Given the description of an element on the screen output the (x, y) to click on. 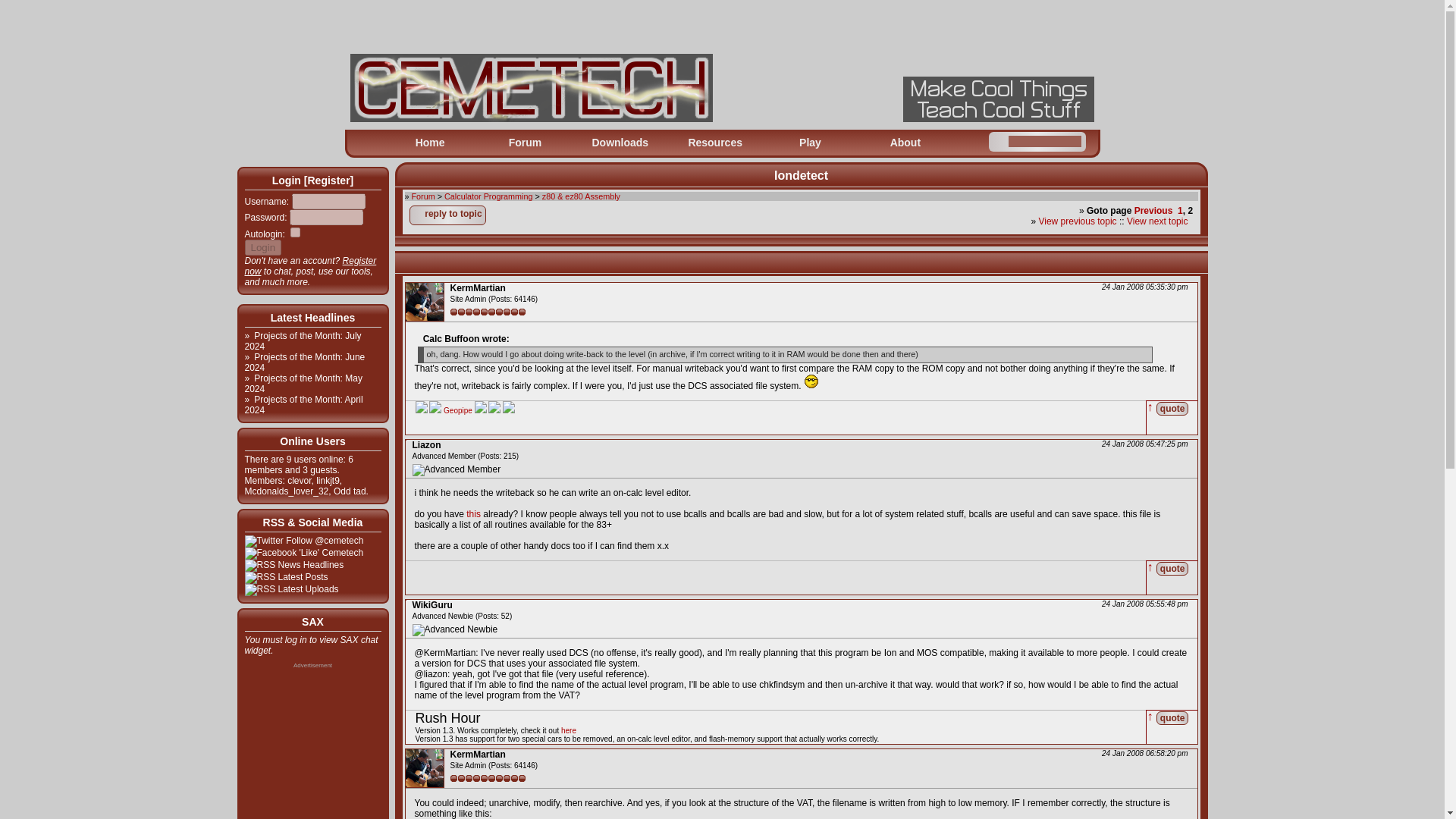
Forum (524, 142)
Iondetect (801, 174)
24 Jan 2008 05:35:30 pm (1141, 286)
Login (262, 247)
Register (328, 180)
quote (1172, 407)
Geopipe (457, 410)
KermMartian (477, 287)
View previous topic (1077, 221)
Forum (423, 195)
